Given the description of an element on the screen output the (x, y) to click on. 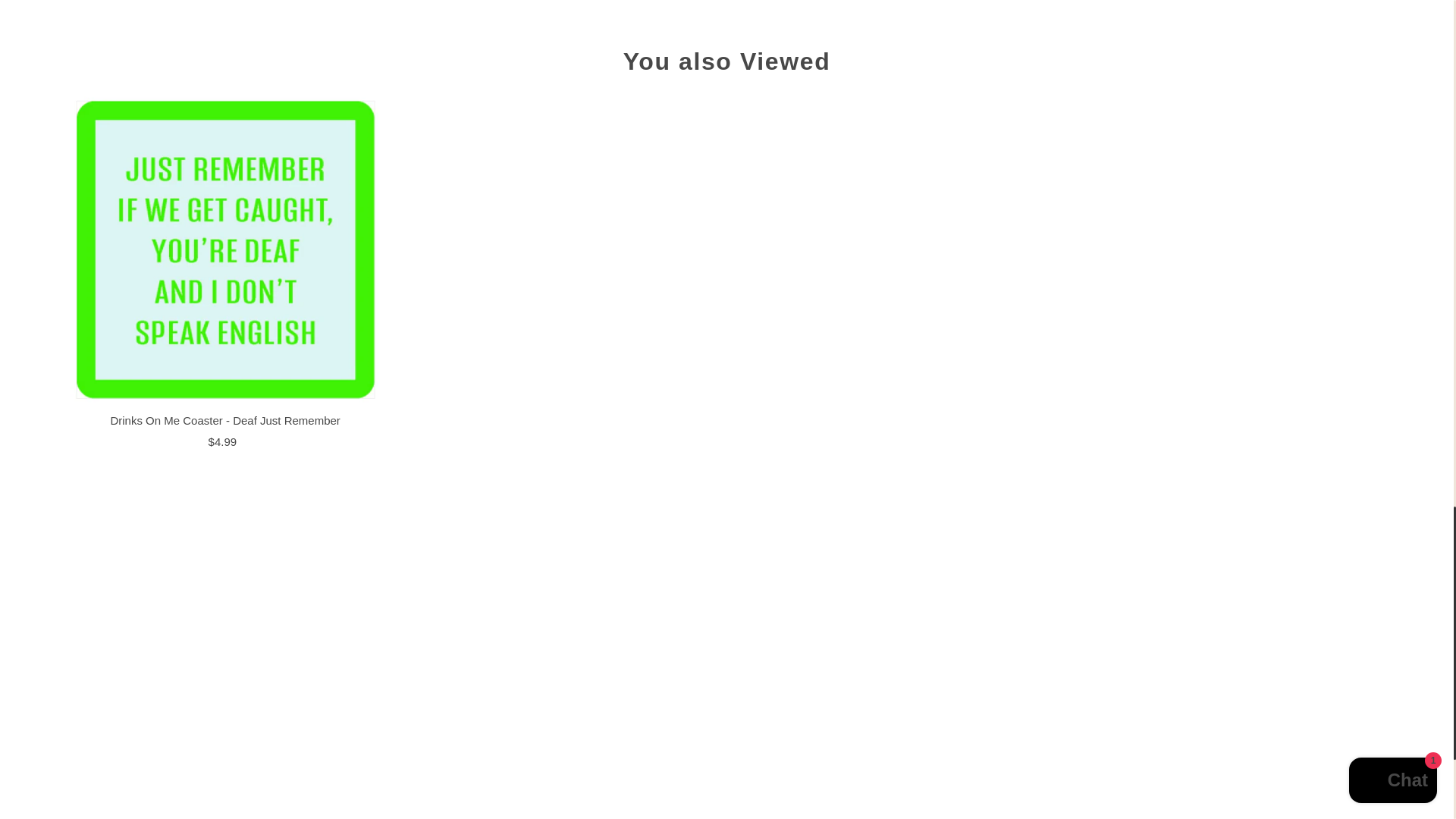
Drinks On Me Coaster - Deaf Just Remember (225, 250)
